Given the description of an element on the screen output the (x, y) to click on. 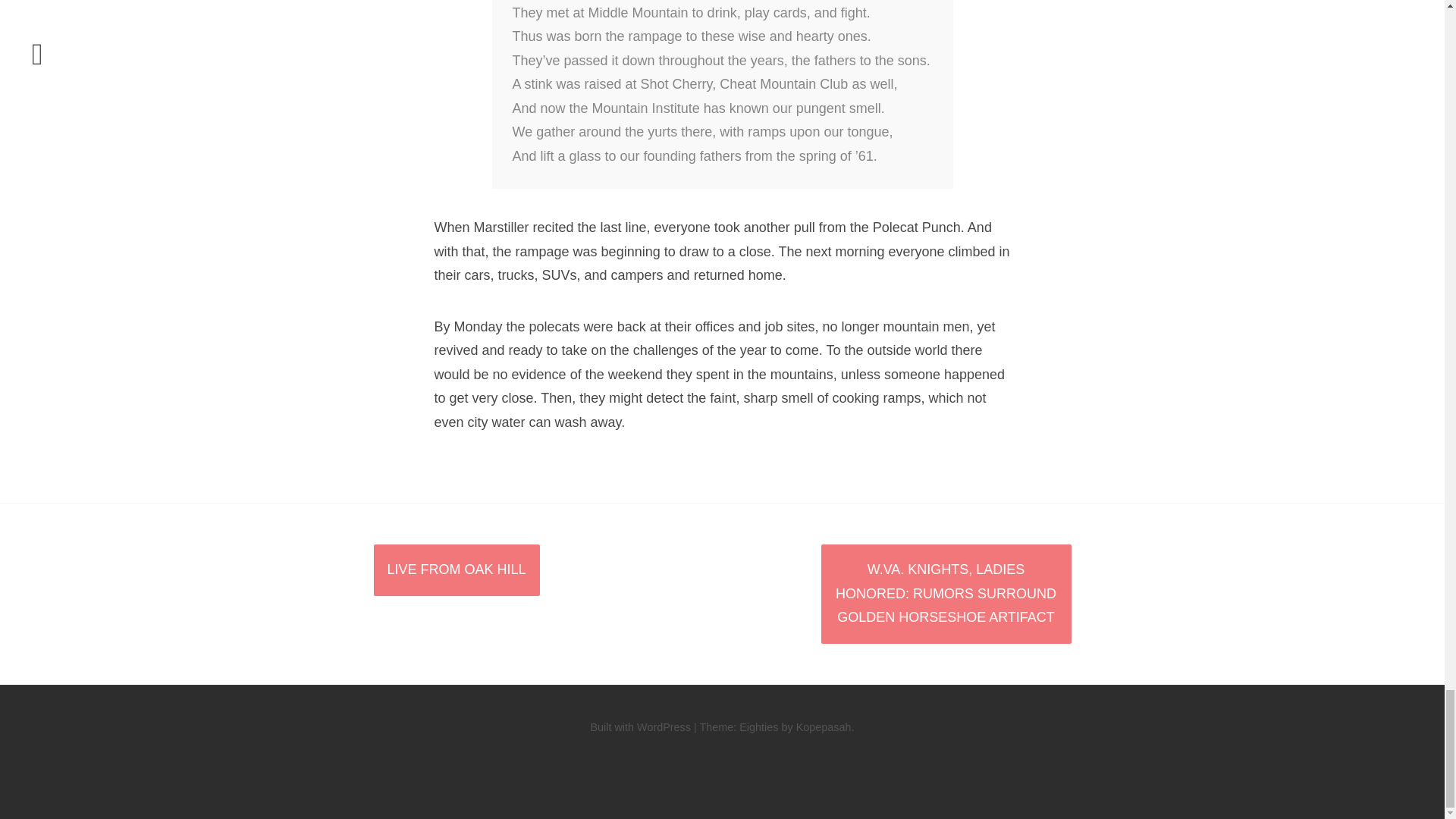
Built with WordPress (639, 727)
LIVE FROM OAK HILL (455, 570)
Kopepasah (823, 727)
Eighties (758, 727)
